Given the description of an element on the screen output the (x, y) to click on. 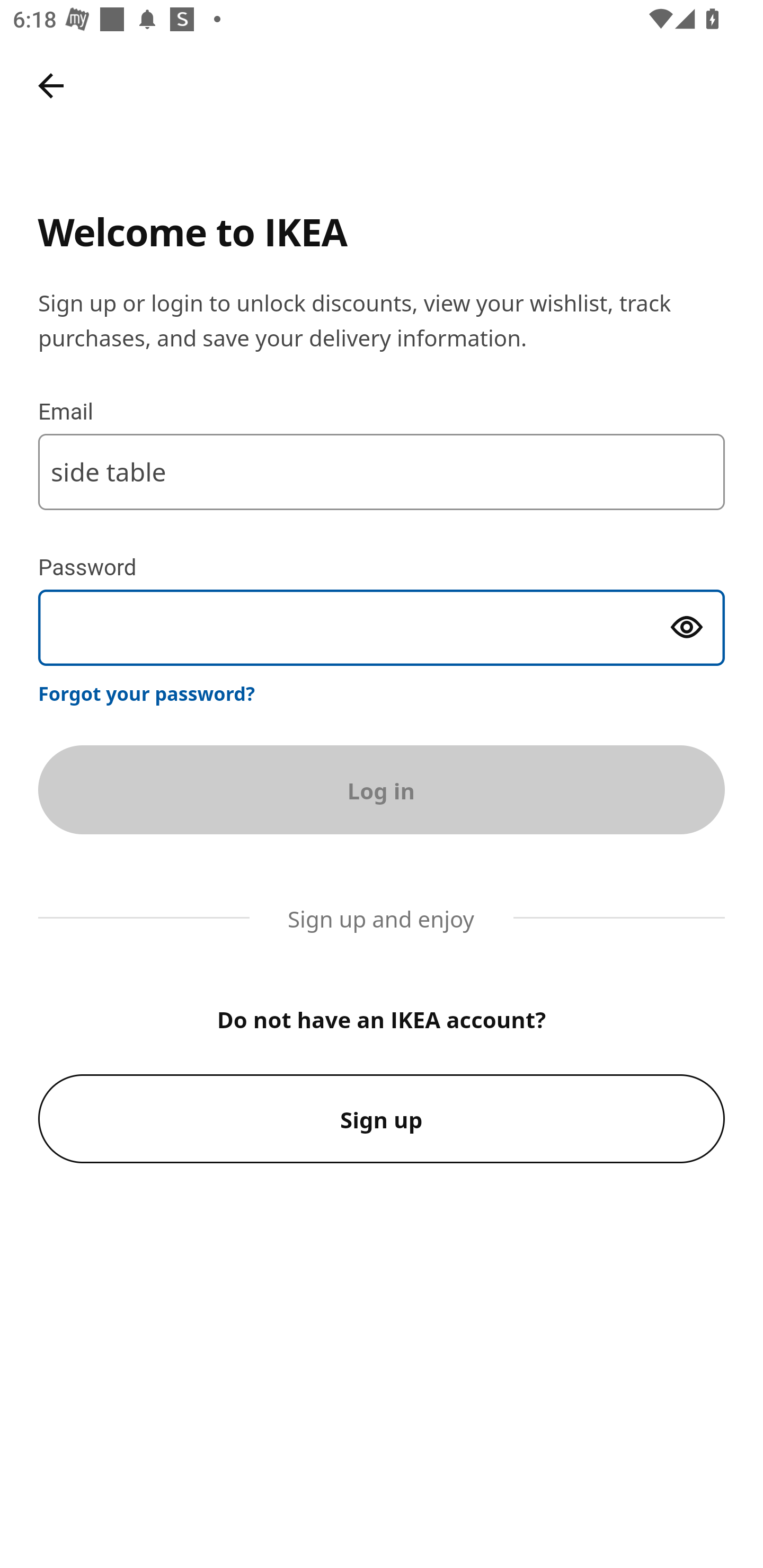
side table (381, 471)
Forgot your password? (146, 692)
Log in (381, 789)
Sign up (381, 1118)
